Given the description of an element on the screen output the (x, y) to click on. 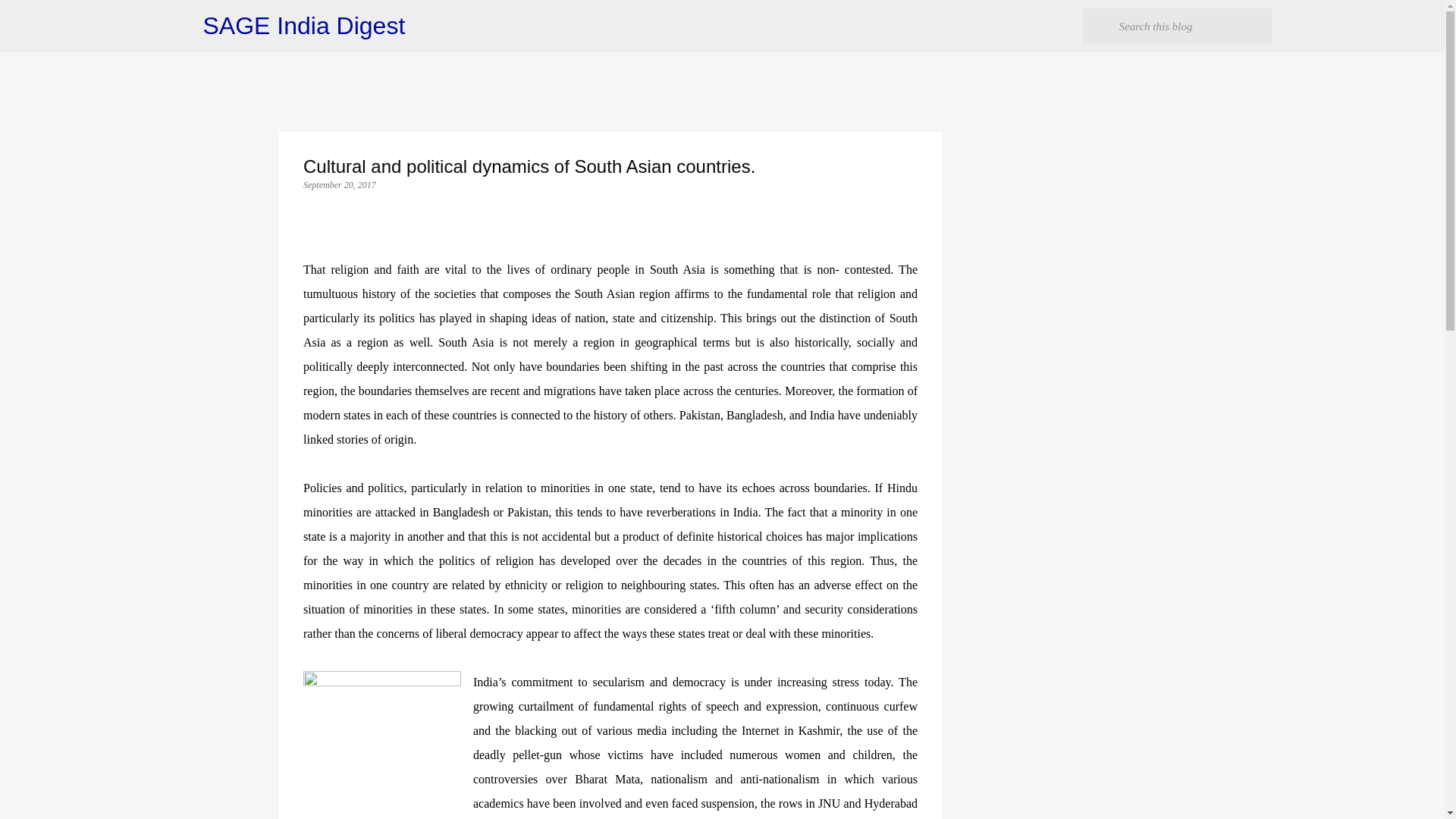
permanent link (338, 184)
September 20, 2017 (338, 184)
SAGE India Digest (304, 25)
